Given the description of an element on the screen output the (x, y) to click on. 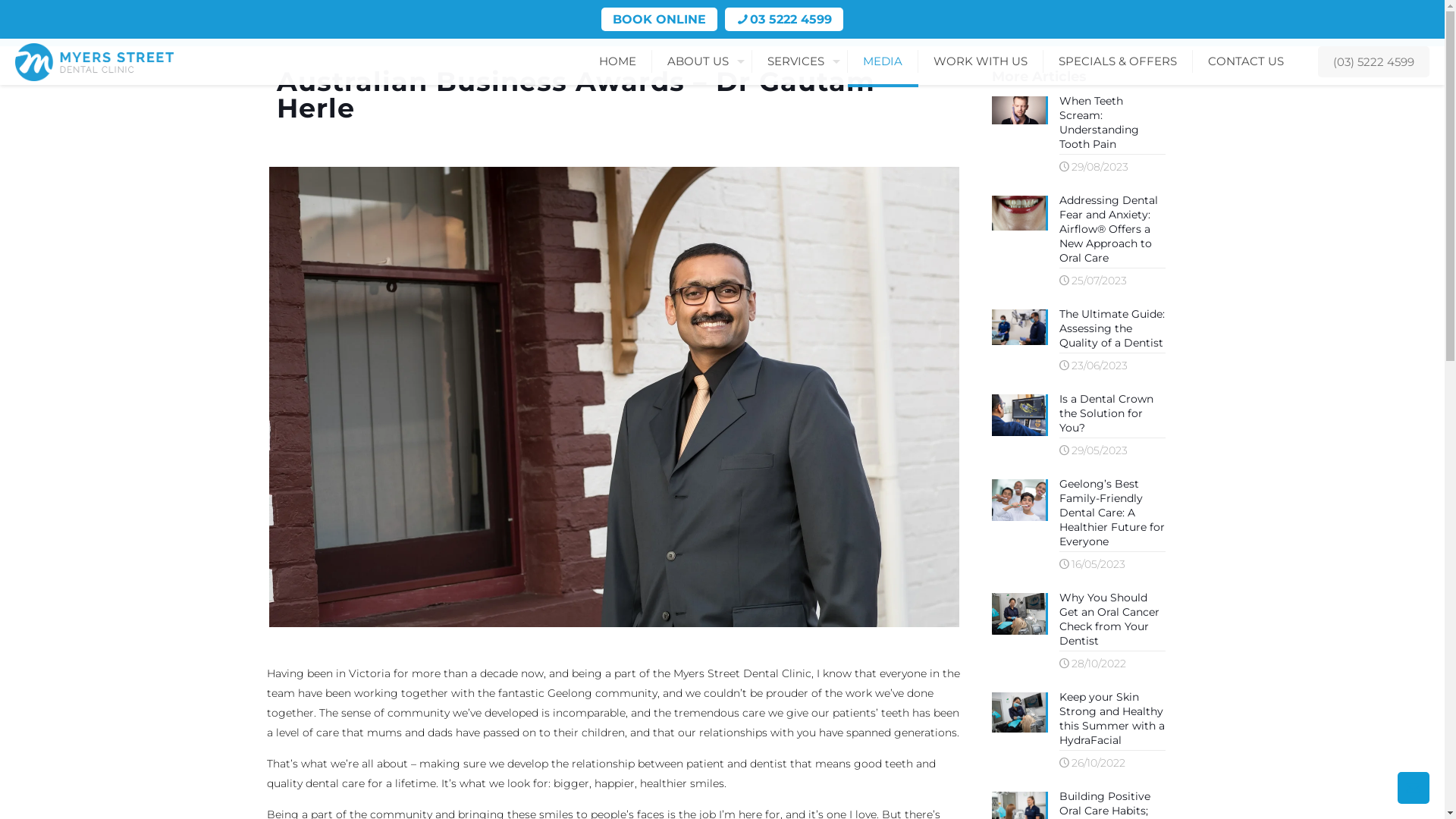
WORK WITH US Element type: text (980, 61)
Is a Dental Crown the Solution for You?
29/05/2023 Element type: text (1083, 428)
SERVICES Element type: text (799, 61)
Myers Street Dental Clinic Geelong Element type: hover (94, 61)
(03) 5222 4599 Element type: text (1373, 60)
CONTACT US Element type: text (1245, 61)
SPECIALS & OFFERS Element type: text (1117, 61)
03 5222 4599 Element type: text (790, 19)
BOOK ONLINE Element type: text (659, 19)
ABOUT US Element type: text (702, 61)
When Teeth Scream: Understanding Tooth Pain
29/08/2023 Element type: text (1083, 137)
MEDIA Element type: text (882, 61)
HOME Element type: text (617, 61)
